Given the description of an element on the screen output the (x, y) to click on. 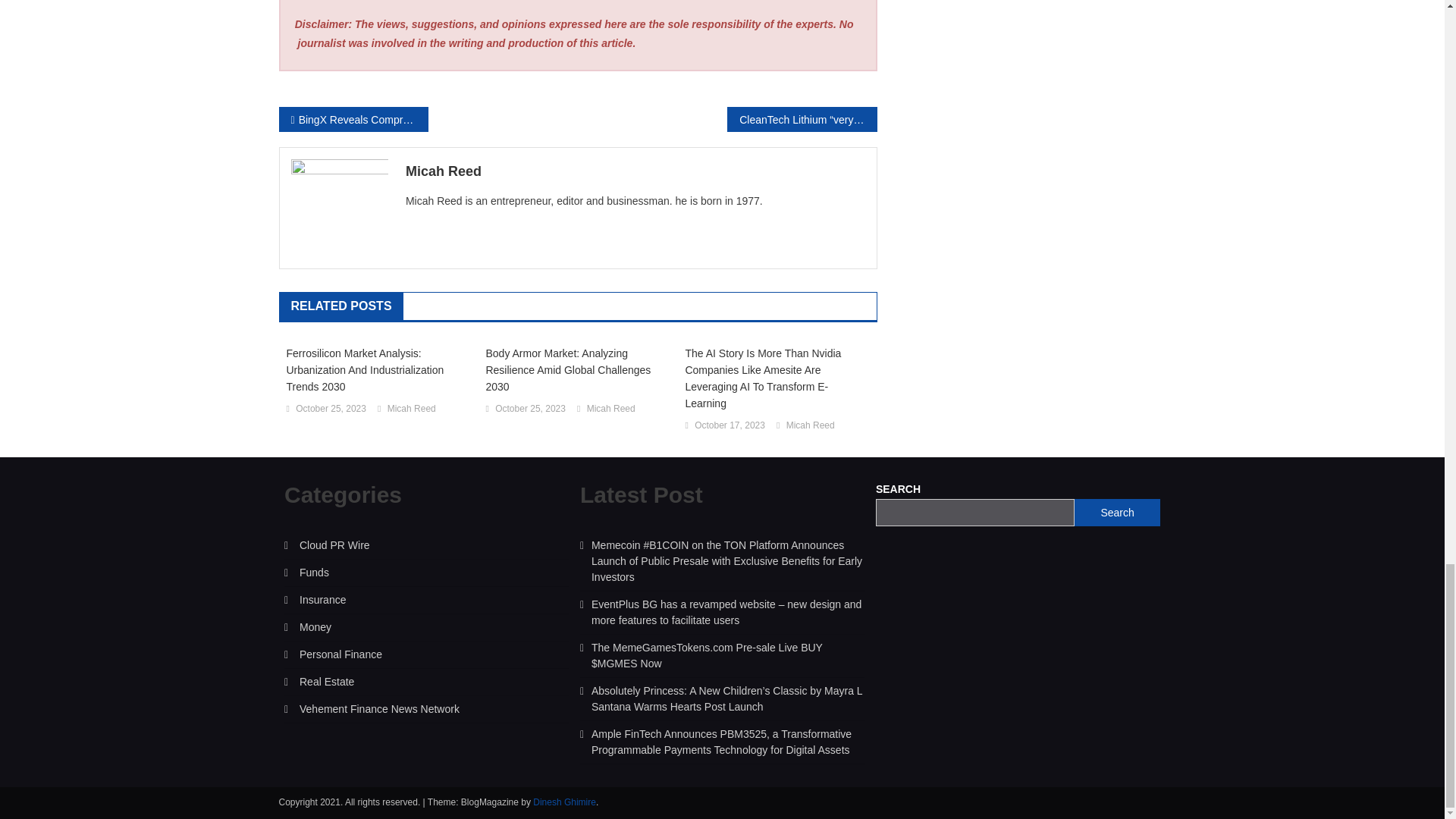
Micah Reed (635, 170)
October 25, 2023 (530, 409)
Micah Reed (411, 409)
Micah Reed (610, 409)
October 25, 2023 (330, 409)
